Given the description of an element on the screen output the (x, y) to click on. 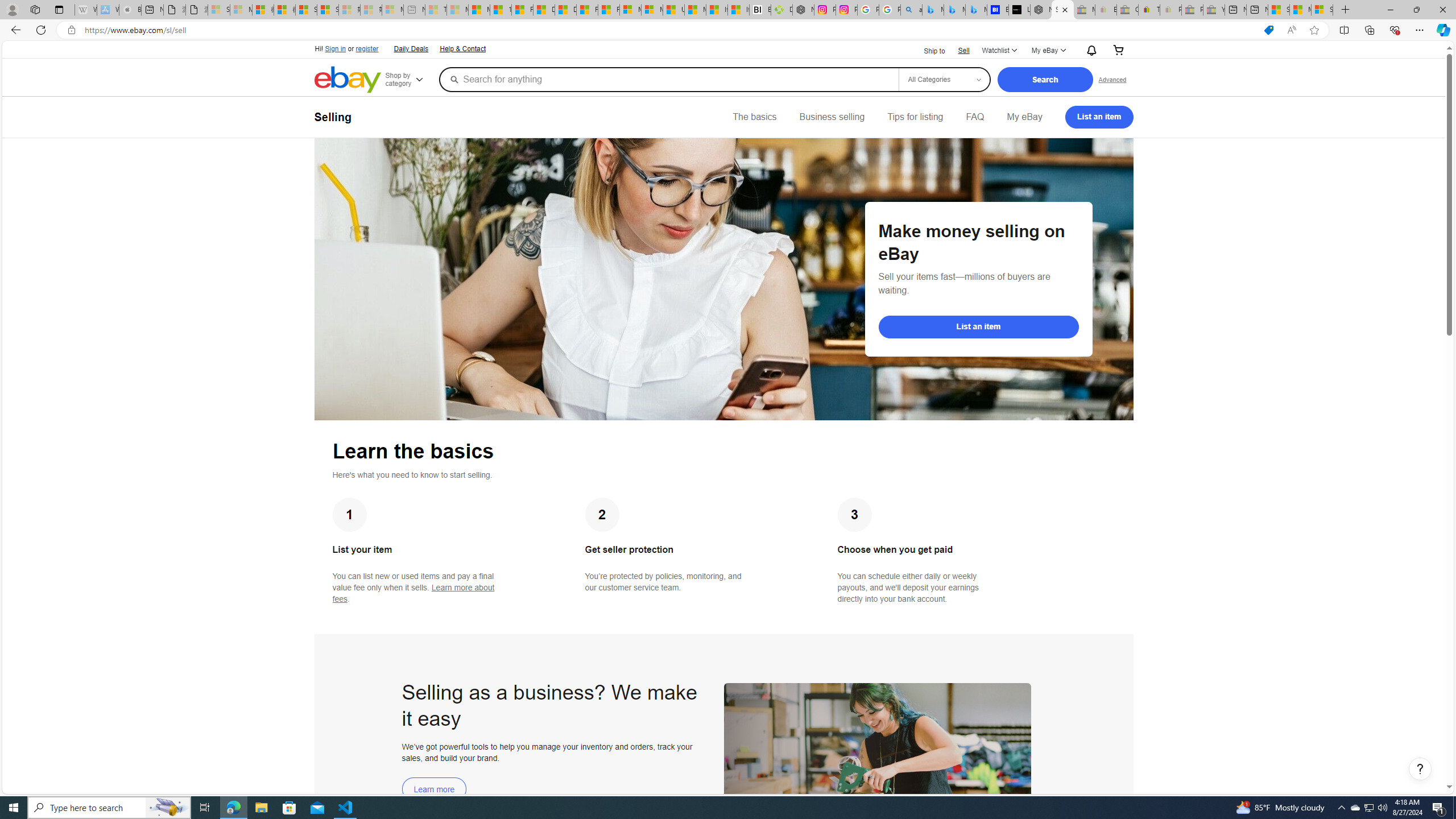
Learn more (434, 788)
This site has coupons! Shopping in Microsoft Edge (1268, 29)
Tips for listing (914, 116)
WatchlistExpand Watch List (998, 50)
AutomationID: gh-eb-Alerts (1090, 49)
Shop by category (410, 79)
Yard, Garden & Outdoor Living - Sleeping (1214, 9)
